Given the description of an element on the screen output the (x, y) to click on. 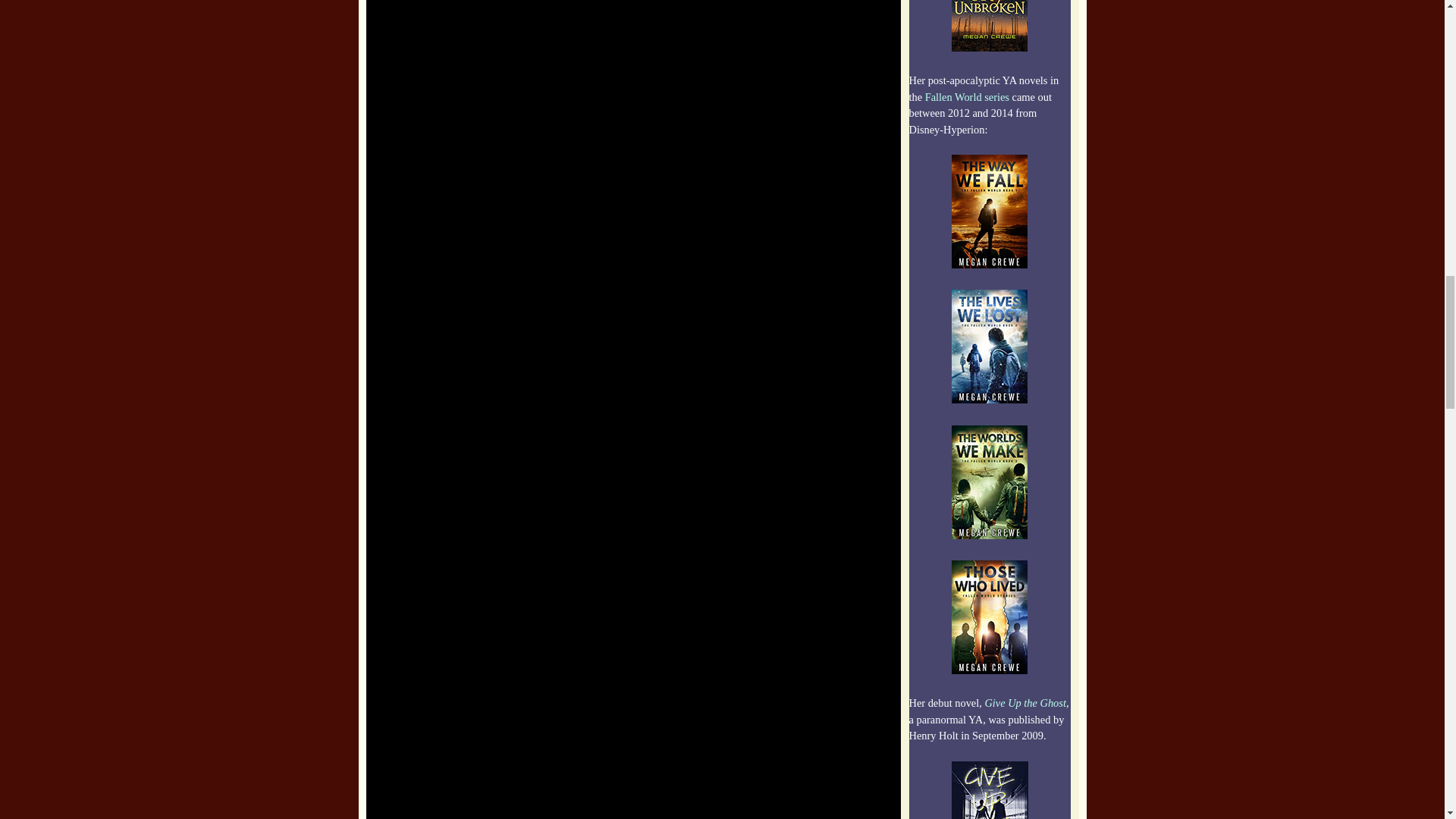
Fallen World series (966, 96)
